Given the description of an element on the screen output the (x, y) to click on. 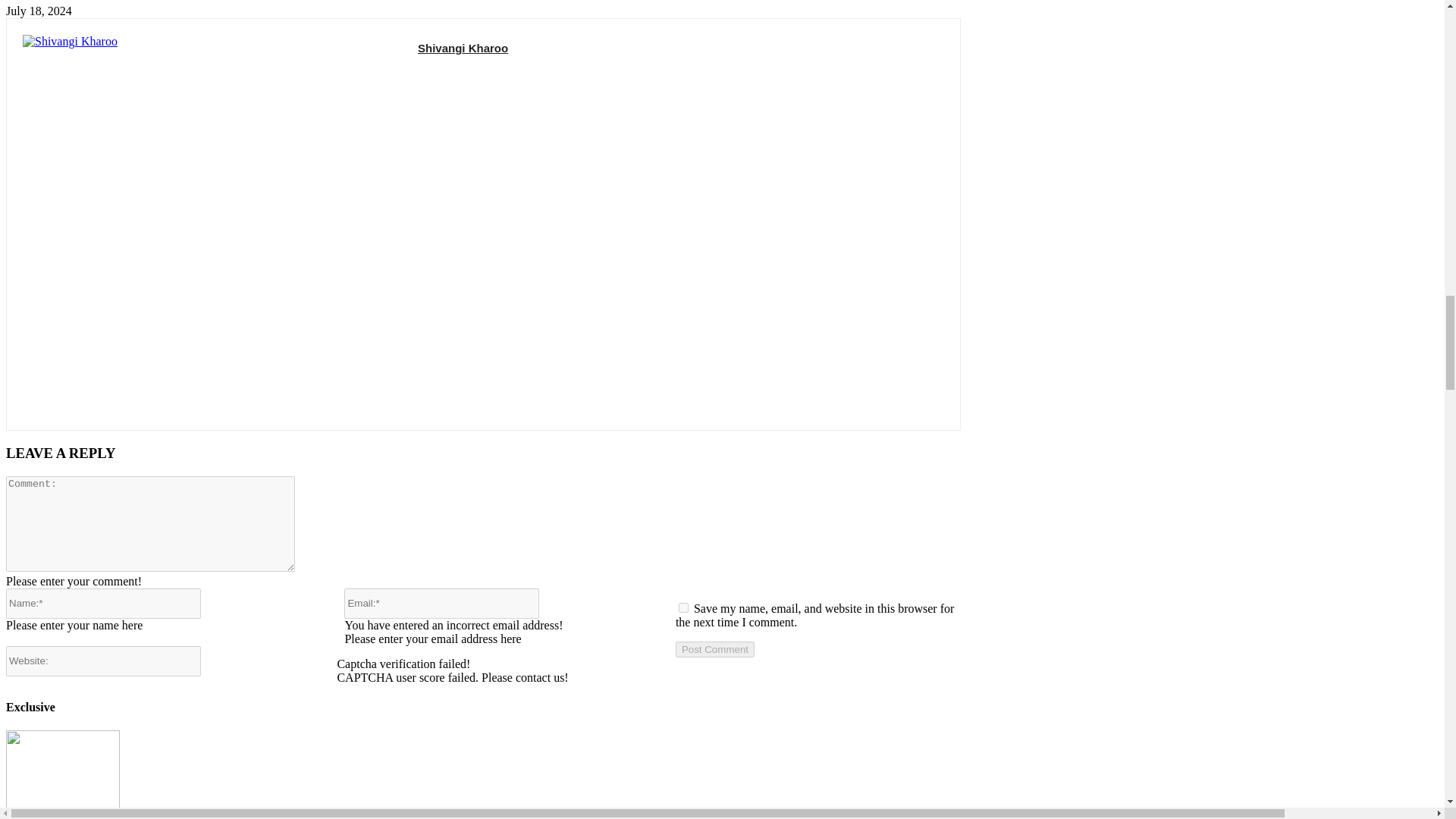
Post Comment (714, 649)
yes (683, 607)
